Given the description of an element on the screen output the (x, y) to click on. 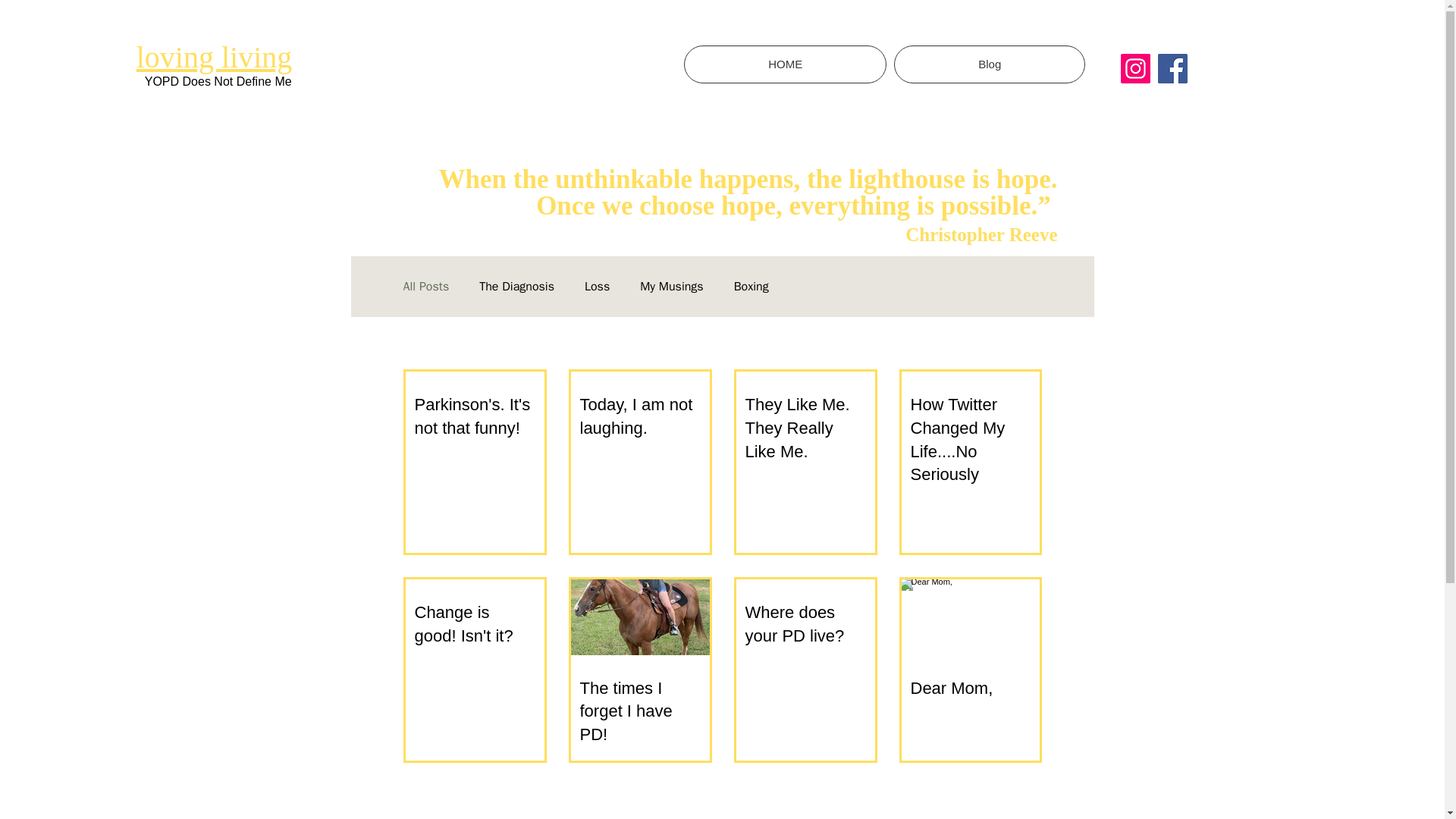
Change is good! Isn't it? (473, 624)
Where does your PD live? (804, 624)
My Musings (671, 286)
They Like Me. They Really Like Me. (804, 428)
How Twitter Changed My Life....No Seriously (969, 439)
Boxing (750, 286)
Blog (988, 64)
Loss (597, 286)
loving living (214, 57)
Dear Mom, (969, 688)
